Given the description of an element on the screen output the (x, y) to click on. 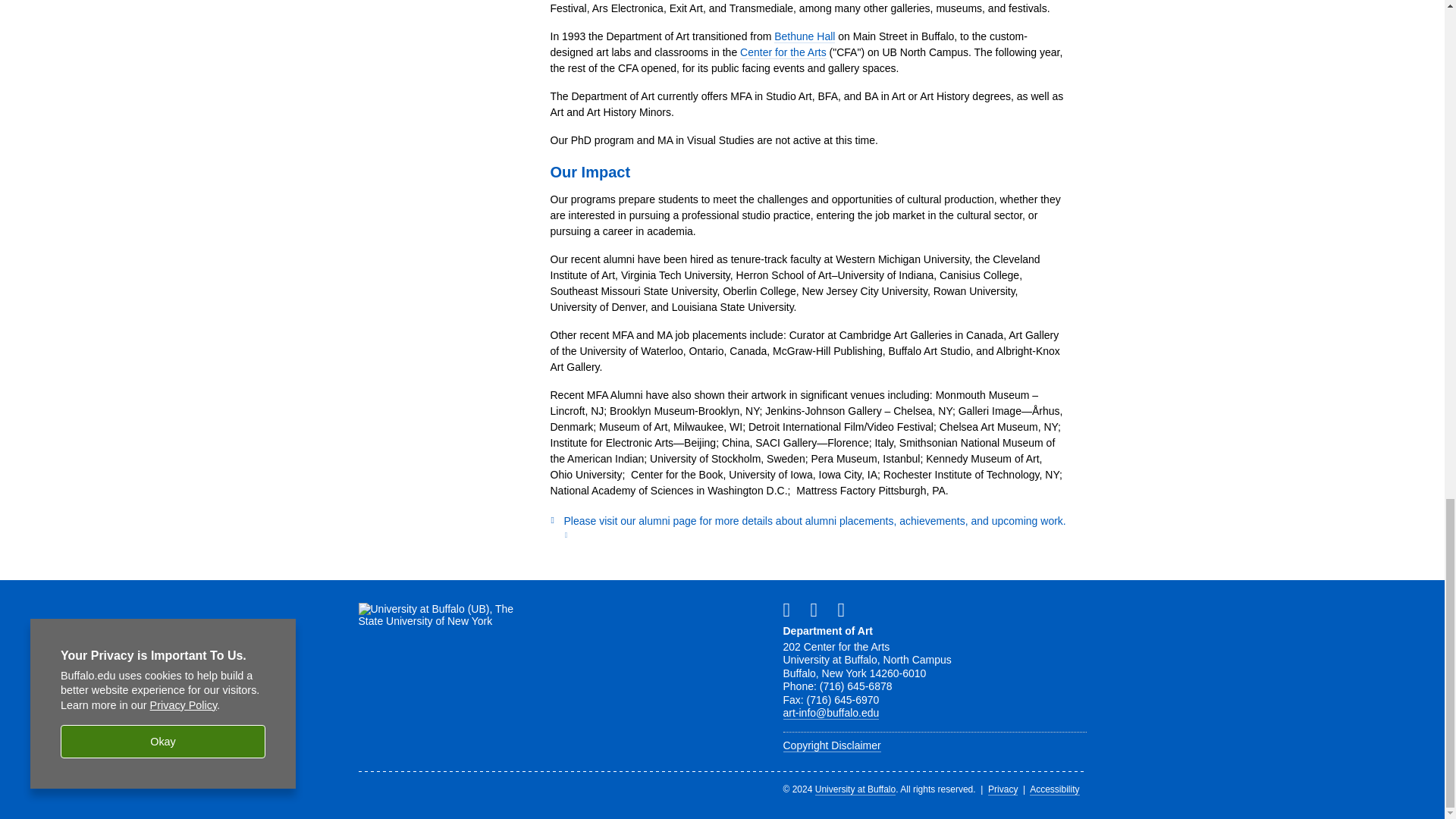
Youtube (819, 609)
Instagram (847, 609)
Facebook (792, 609)
This link opens a page in a new window or tab. (814, 527)
